Given the description of an element on the screen output the (x, y) to click on. 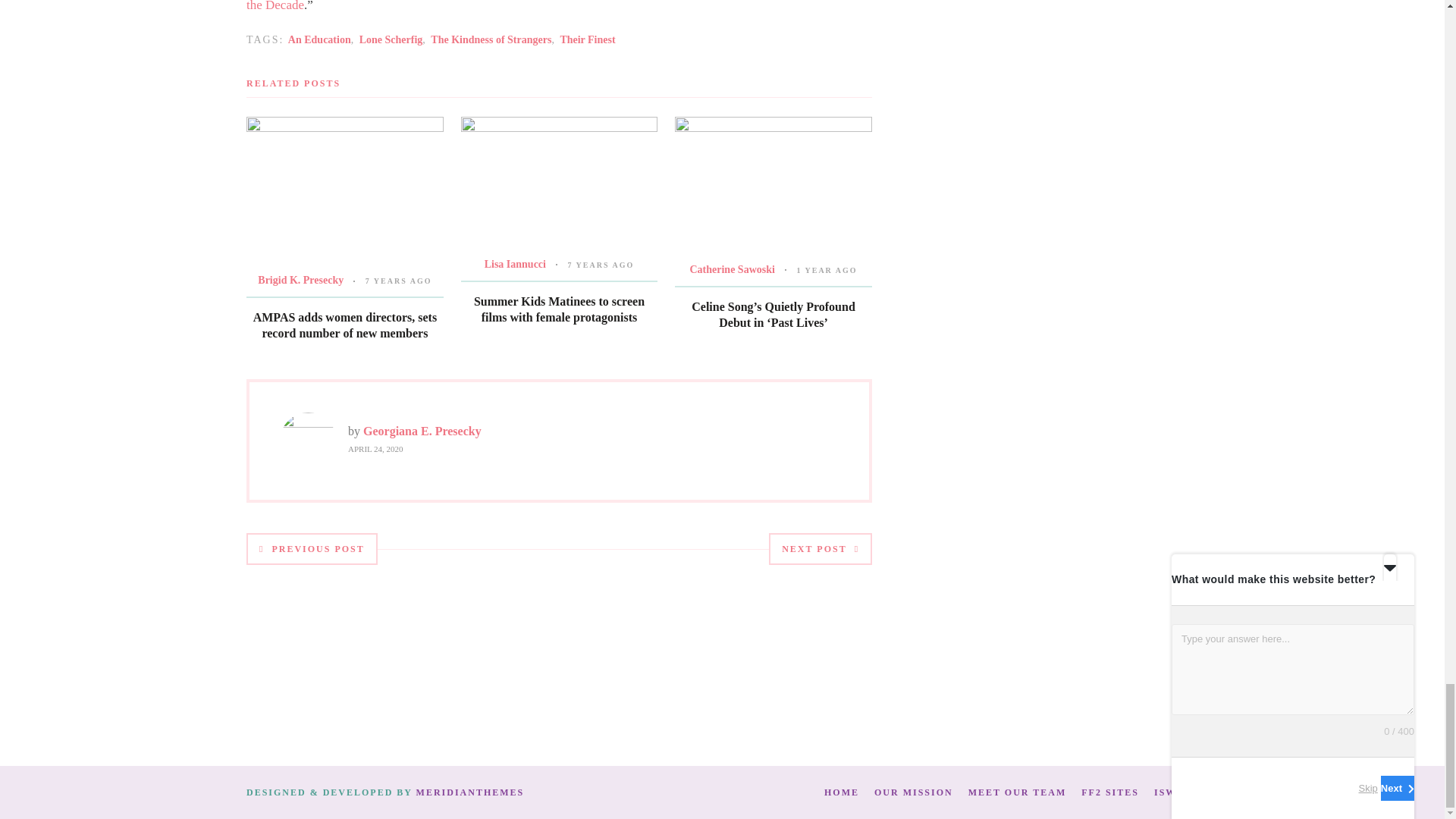
Posts by Georgiana E. Presecky (421, 431)
Posts by Brigid K. Presecky (300, 279)
Posts by Catherine Sawoski (731, 269)
Posts by Lisa Iannucci (515, 264)
